Given the description of an element on the screen output the (x, y) to click on. 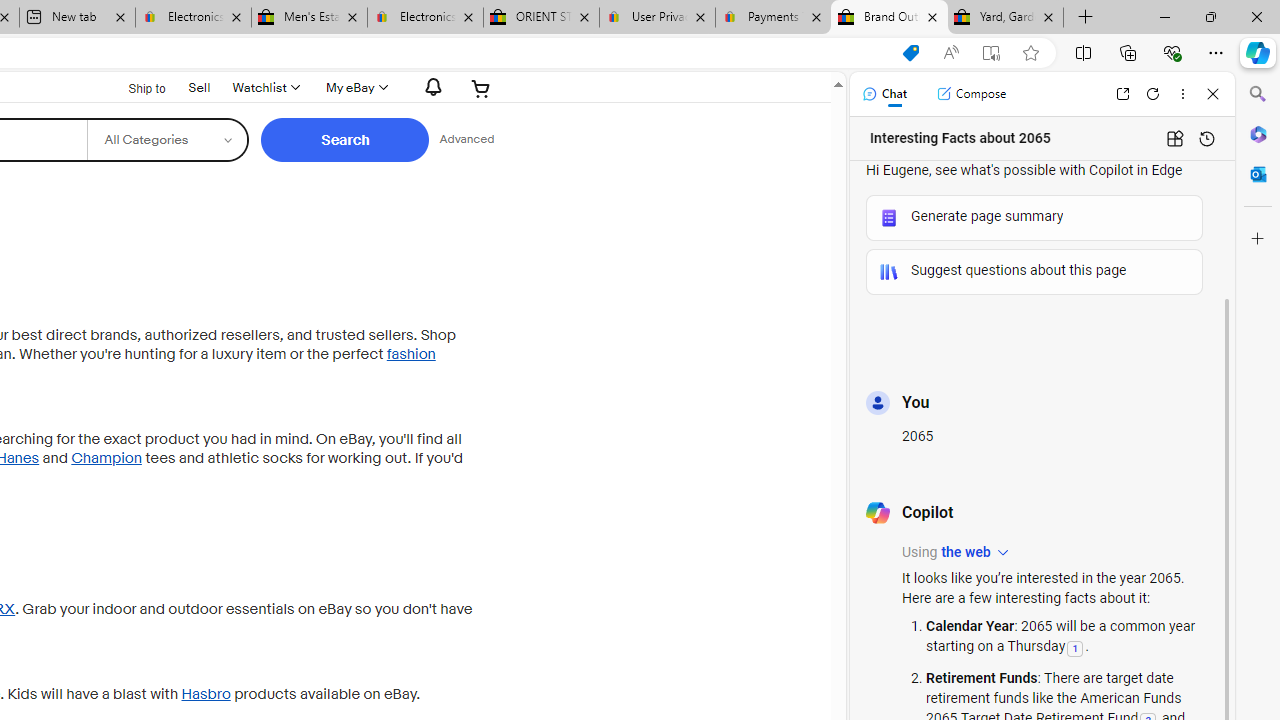
Expand Cart (481, 88)
AutomationID: gh-eb-Alerts (430, 87)
Champion (106, 458)
